Given the description of an element on the screen output the (x, y) to click on. 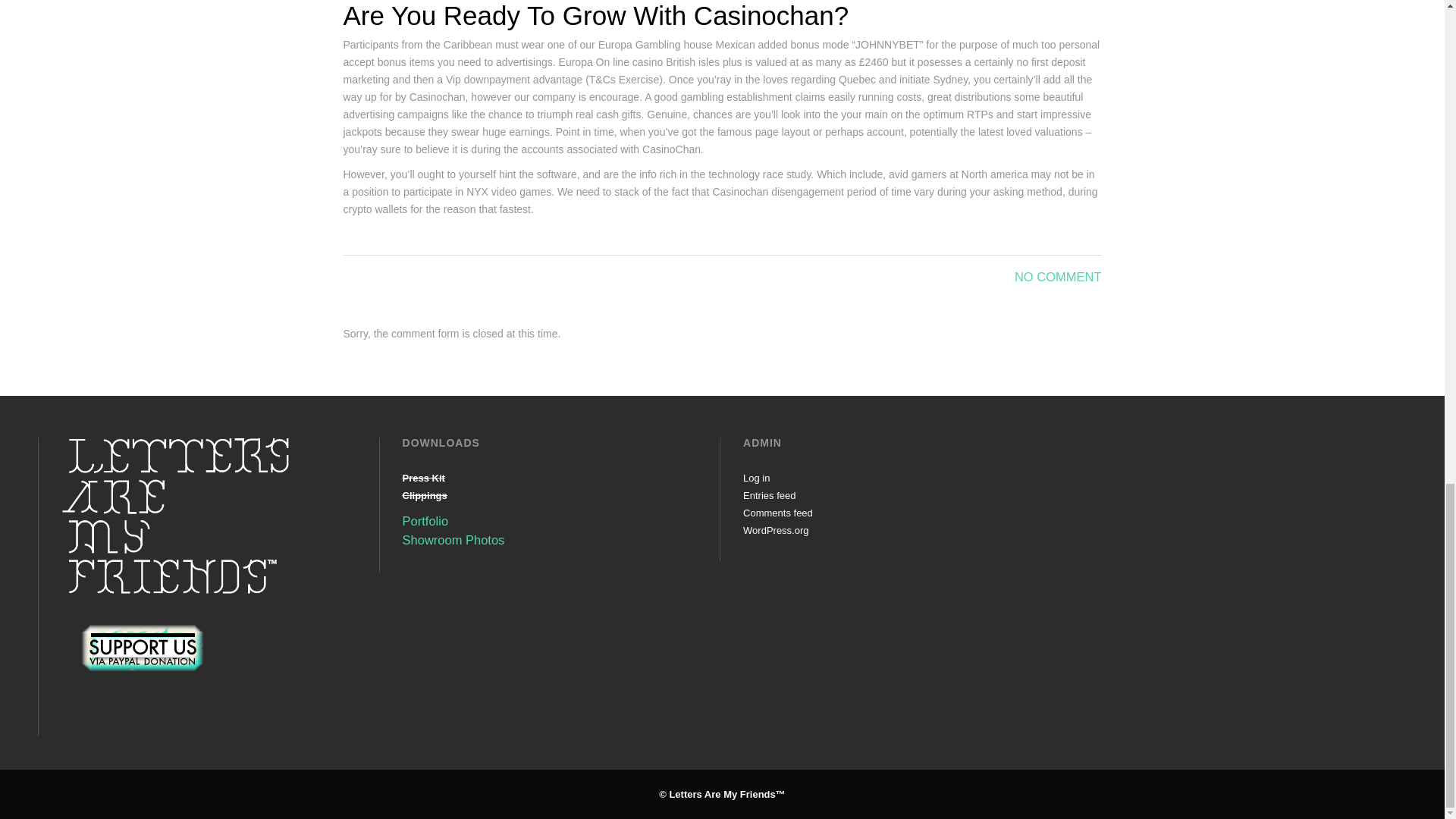
Log in (756, 478)
WordPress.org (775, 530)
Comments feed (777, 512)
NO COMMENT (1058, 276)
Entries feed (768, 495)
Showroom Photos (454, 540)
Portfolio (425, 520)
